Given the description of an element on the screen output the (x, y) to click on. 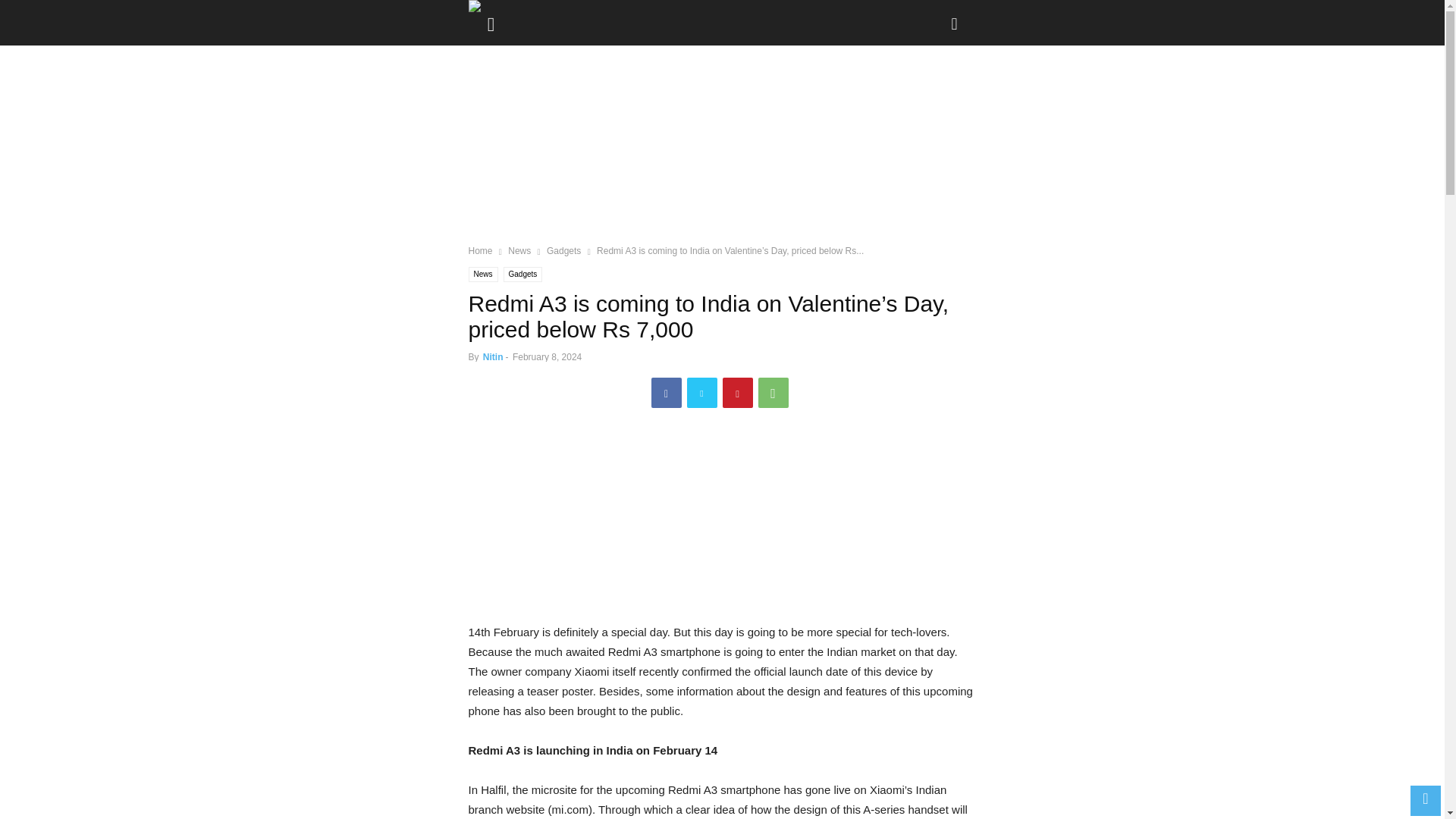
News (519, 250)
News (482, 273)
Home (480, 250)
View all posts in Gadgets (563, 250)
Pinterest (737, 392)
WhatsApp (773, 392)
Gadgets (563, 250)
Gadgets (523, 273)
Nitin (493, 357)
Twitter (702, 392)
